Given the description of an element on the screen output the (x, y) to click on. 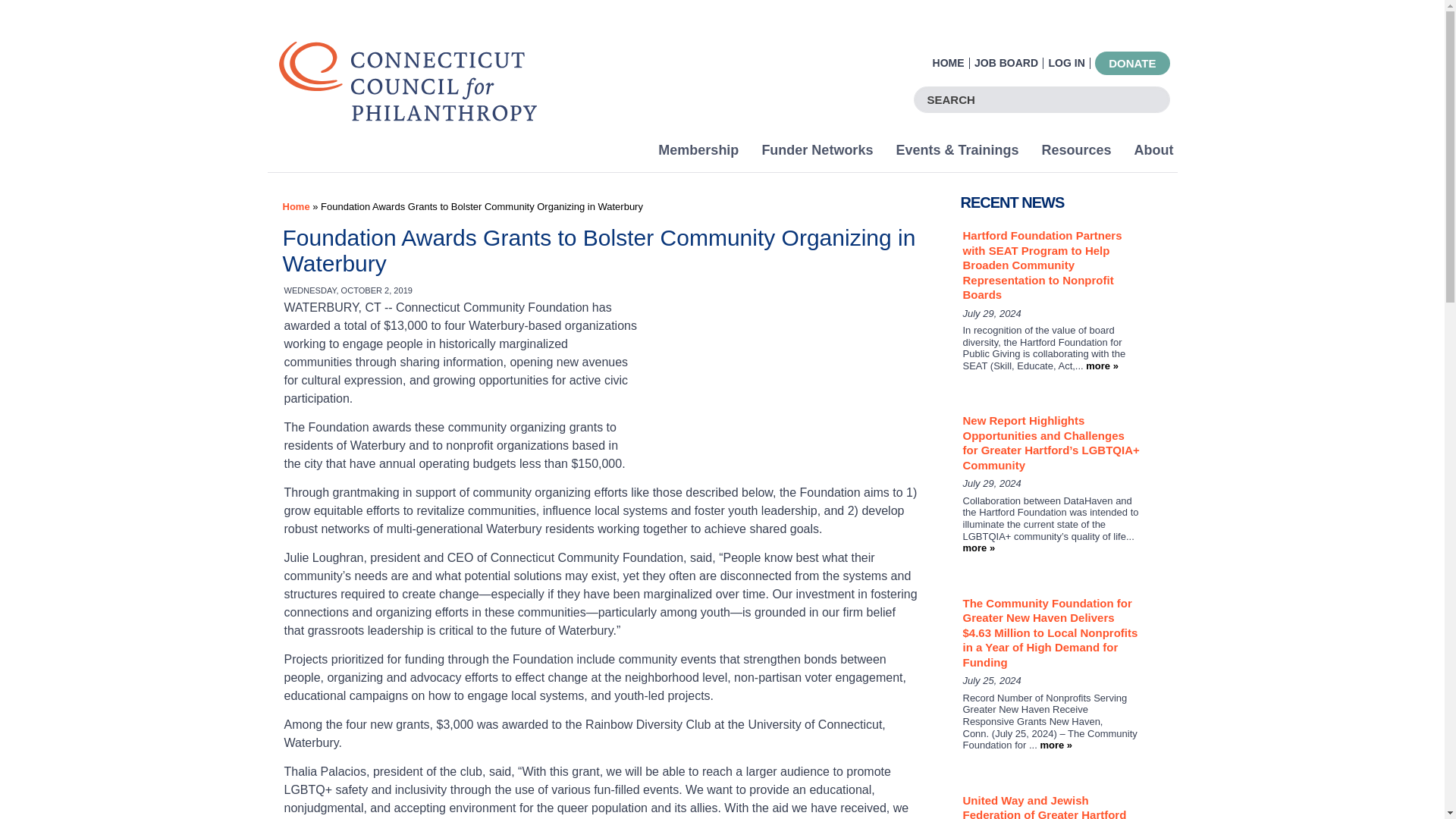
JOB BOARD (1008, 62)
Funder Networks (816, 155)
Connecticut Council for Philanthropy (408, 112)
Search (1153, 99)
Home (295, 206)
HOME (951, 62)
Donate (1131, 63)
Donate (1131, 63)
Search (1153, 99)
LOG IN (1069, 62)
About (1154, 155)
Resources (1075, 155)
Skip to main content (693, 1)
Enter the terms you wish to search for. (1042, 99)
Membership (697, 155)
